Given the description of an element on the screen output the (x, y) to click on. 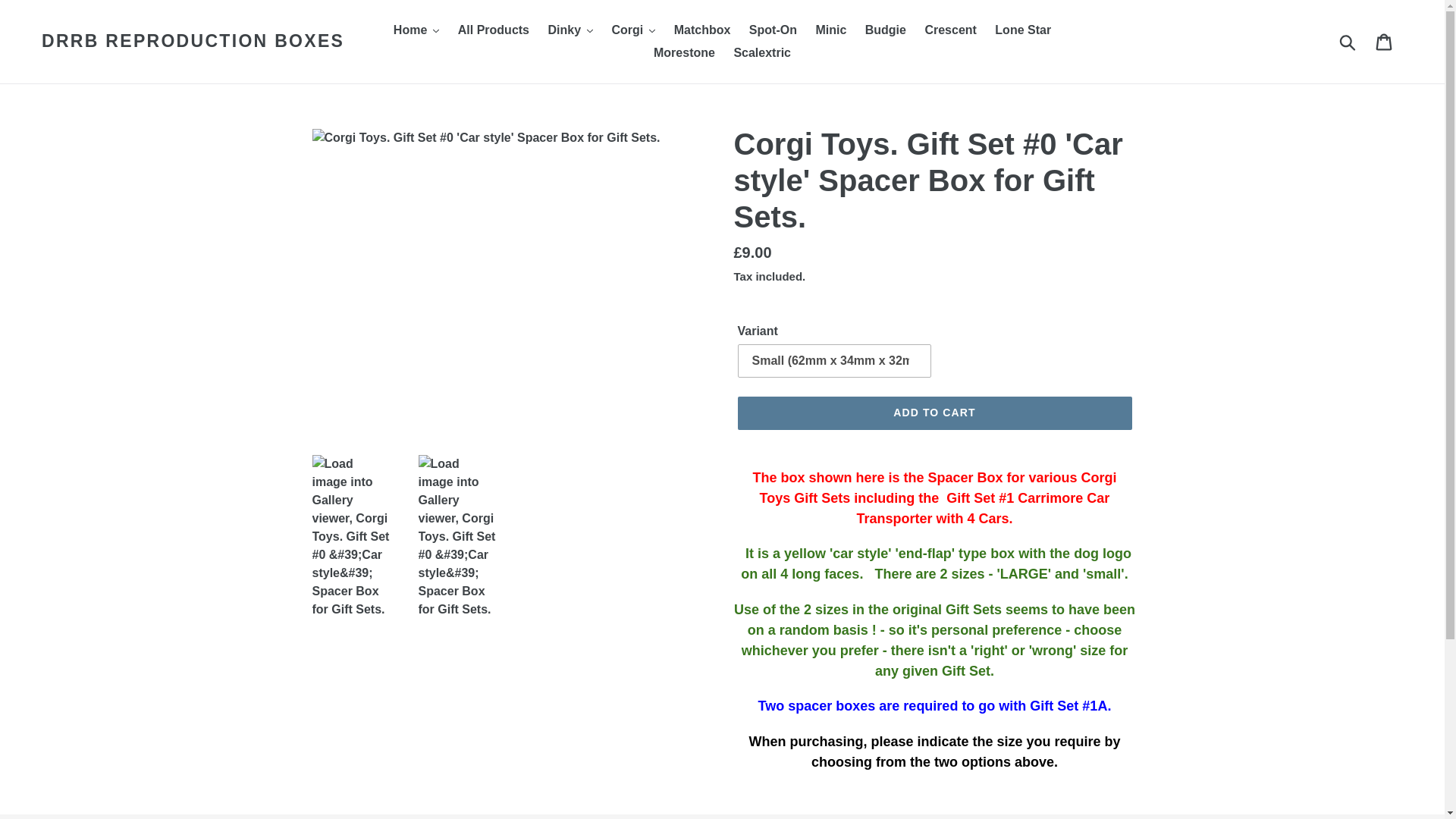
DRRB REPRODUCTION BOXES (192, 41)
Matchbox (702, 29)
Spot-On (773, 29)
All Products (493, 29)
Minic (830, 29)
Budgie (885, 29)
